Given the description of an element on the screen output the (x, y) to click on. 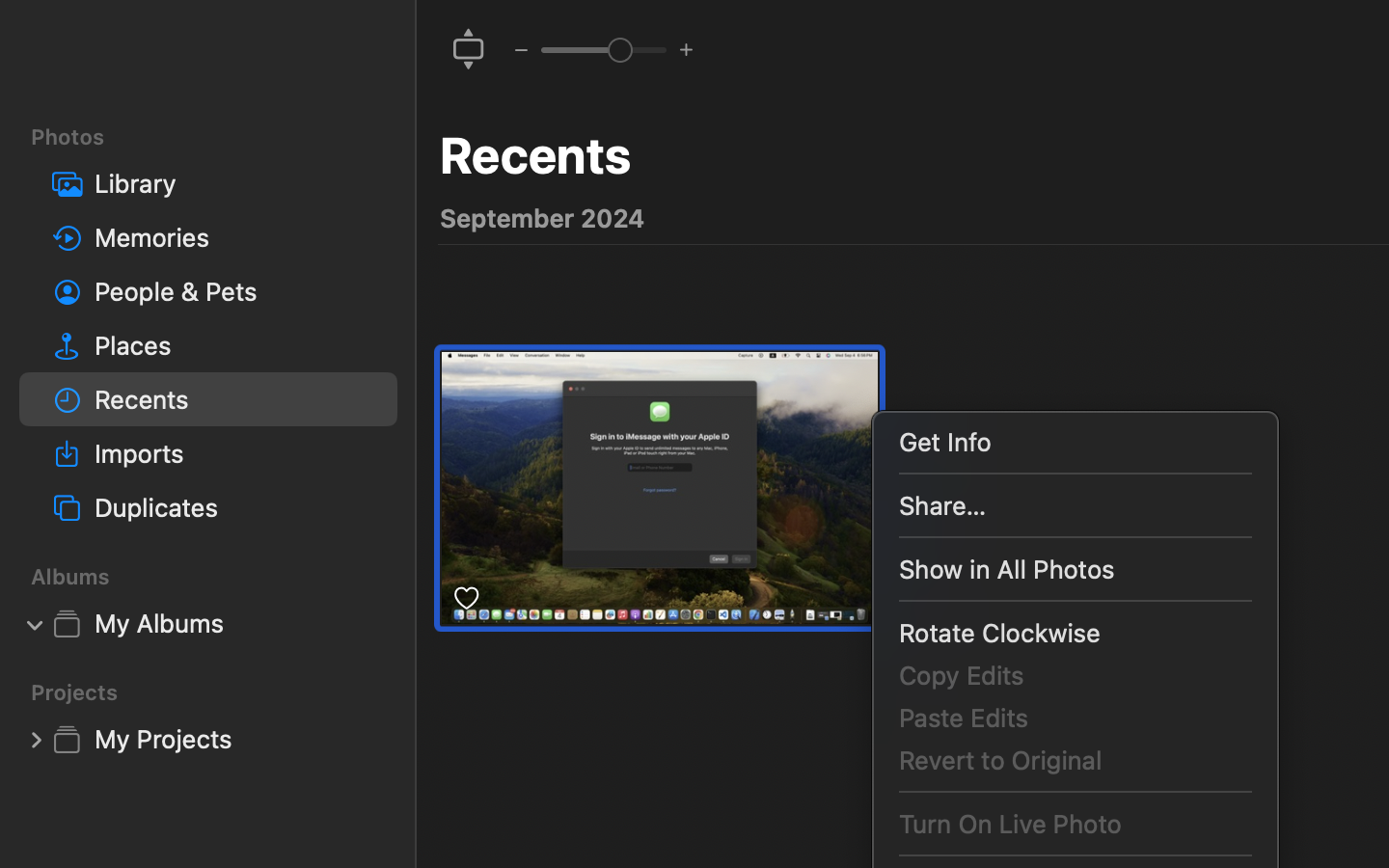
September 2024 Element type: AXStaticText (541, 217)
My Albums Element type: AXStaticText (237, 622)
Duplicates Element type: AXStaticText (237, 506)
Albums Element type: AXStaticText (219, 576)
Photos Element type: AXStaticText (219, 136)
